Given the description of an element on the screen output the (x, y) to click on. 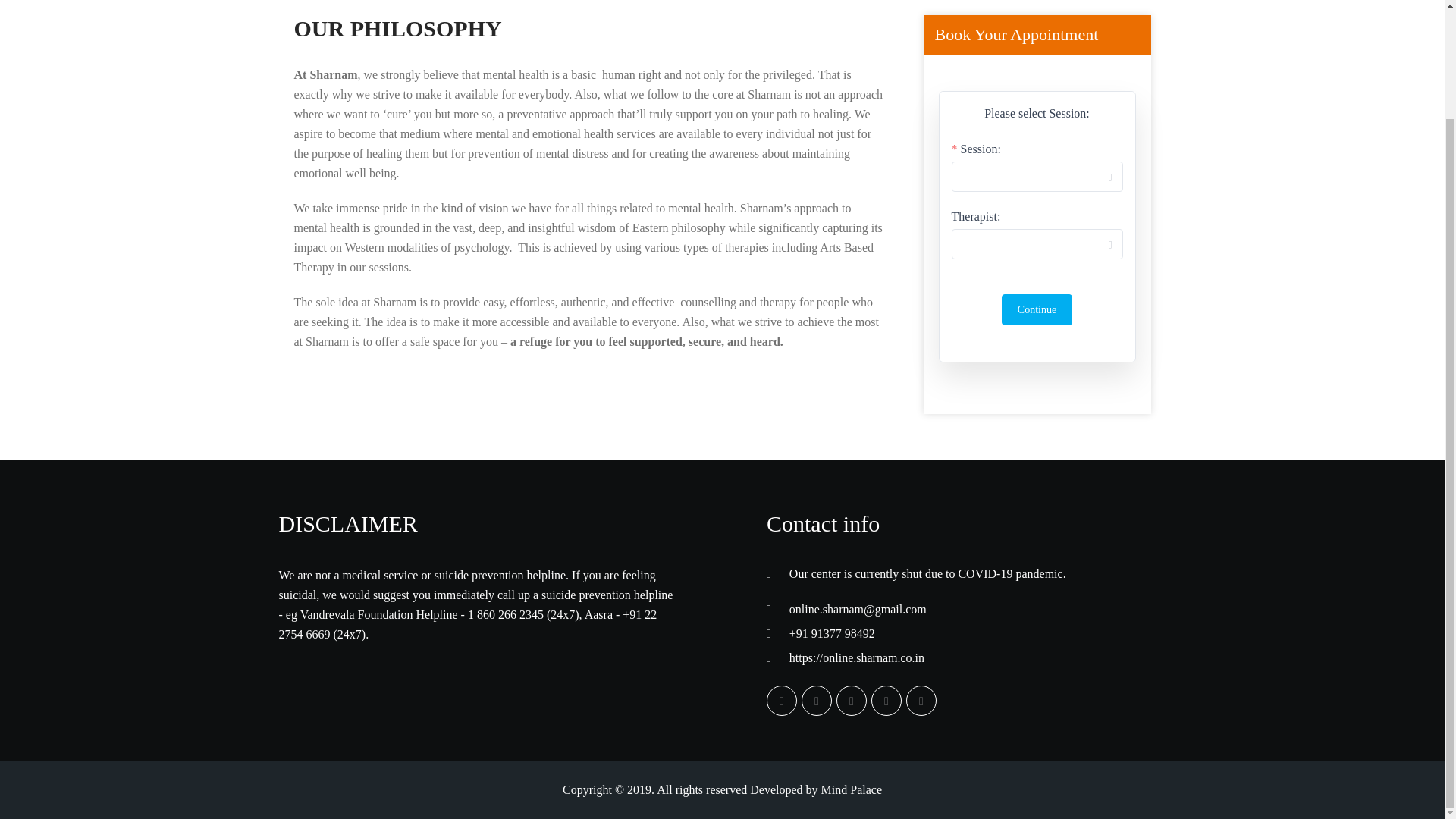
Continue (1036, 309)
